Given the description of an element on the screen output the (x, y) to click on. 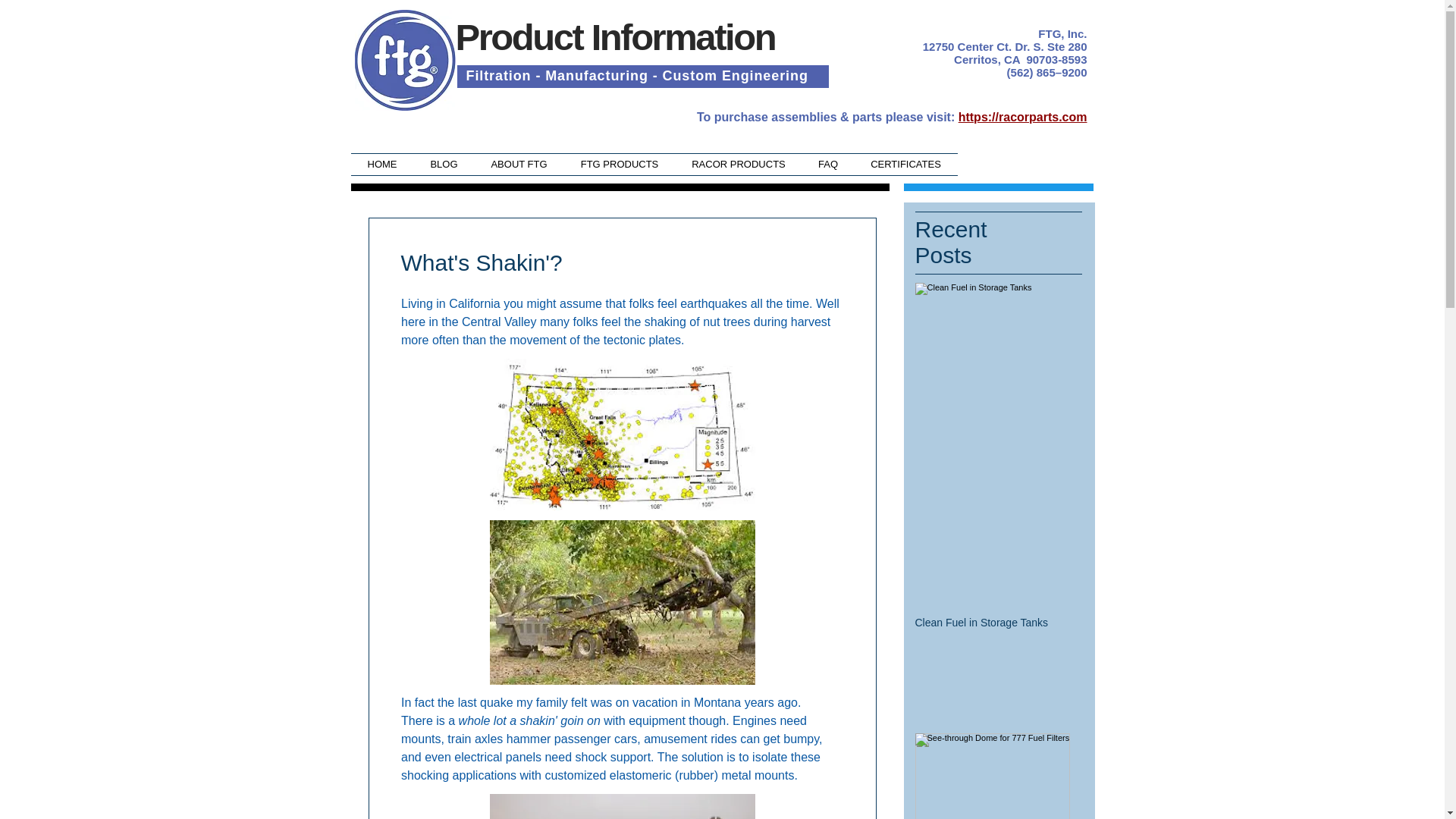
HOME (381, 164)
ABOUT FTG (519, 164)
FAQ (828, 164)
BLOG (443, 164)
Clean Fuel in Storage Tanks (991, 622)
shaking of nut trees during harvest (736, 321)
CERTIFICATES (904, 164)
